Given the description of an element on the screen output the (x, y) to click on. 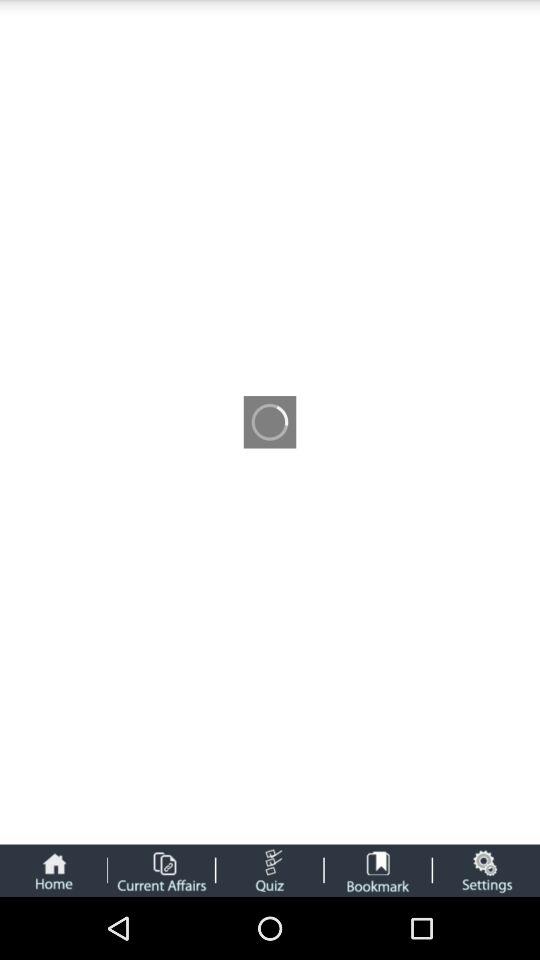
settings button (486, 870)
